Given the description of an element on the screen output the (x, y) to click on. 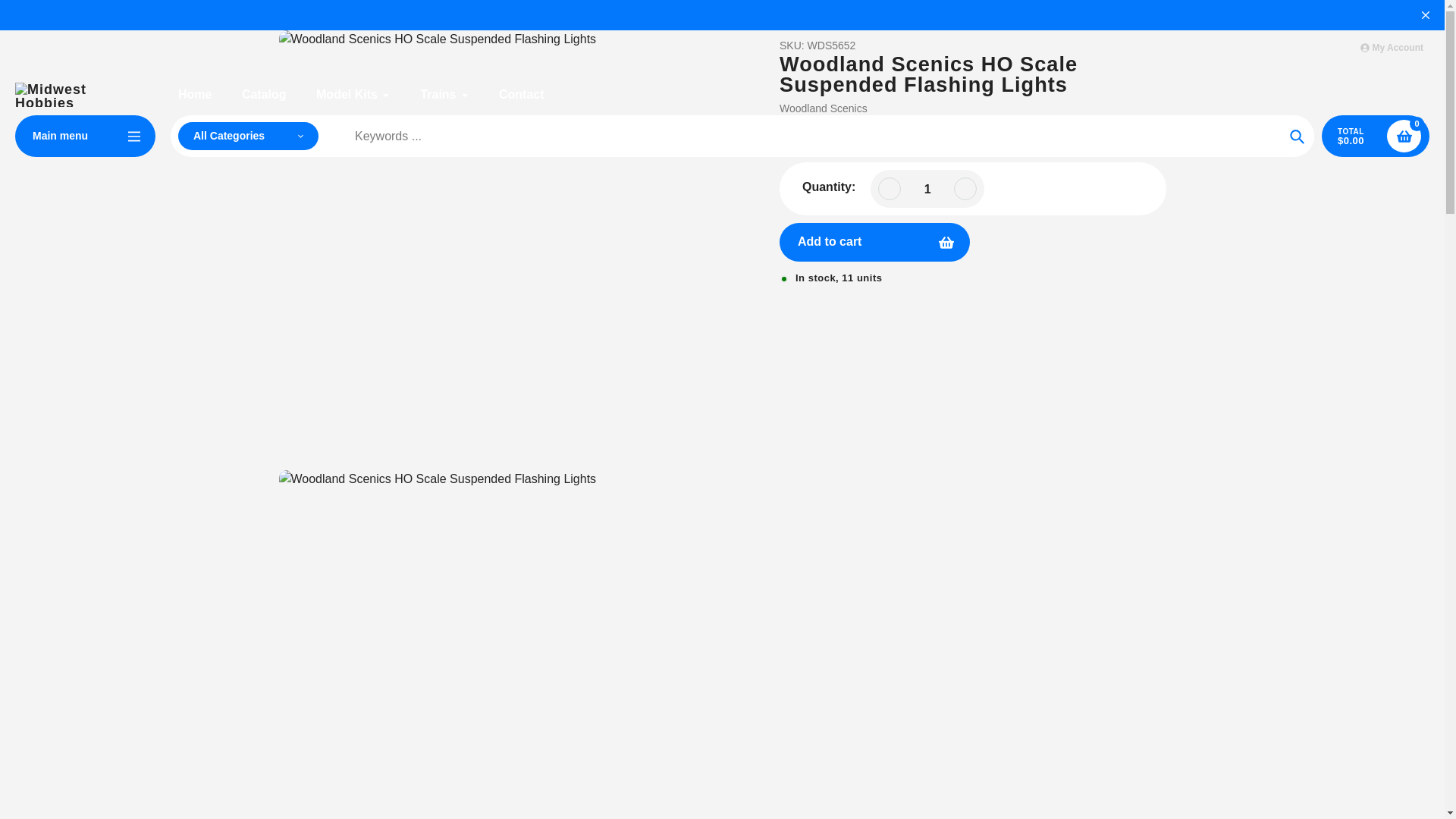
Contact (521, 94)
Search (1296, 136)
Main menu (84, 136)
0 (1404, 135)
Catalog (263, 94)
Woodland Scenics (822, 108)
Trains (444, 94)
Model Kits (352, 94)
Home (194, 94)
My Account (1391, 48)
1 (927, 188)
All Categories (247, 136)
